Given the description of an element on the screen output the (x, y) to click on. 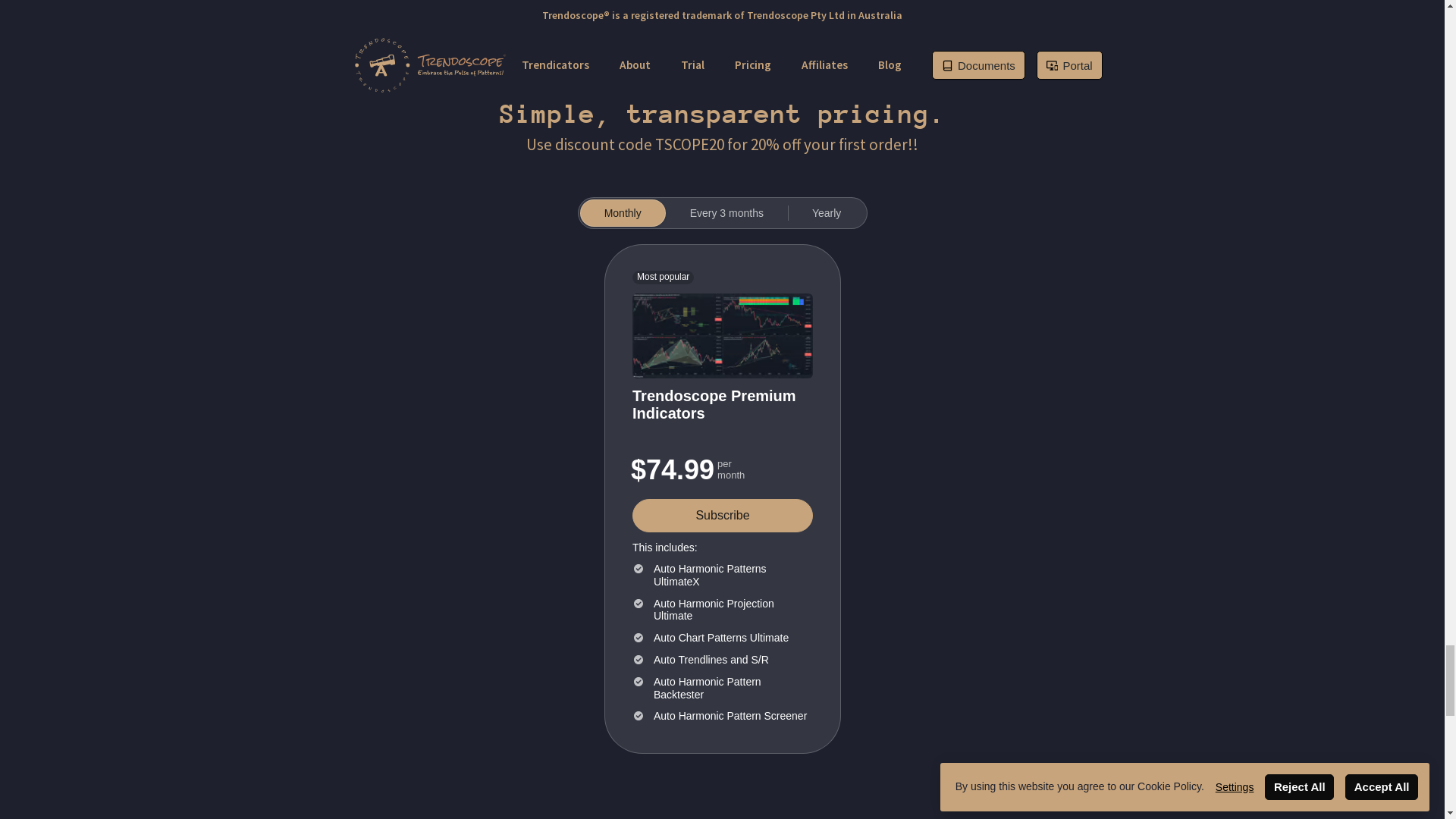
Sign Up Element type: text (677, 369)
Request Trial Element type: text (772, 369)
